Given the description of an element on the screen output the (x, y) to click on. 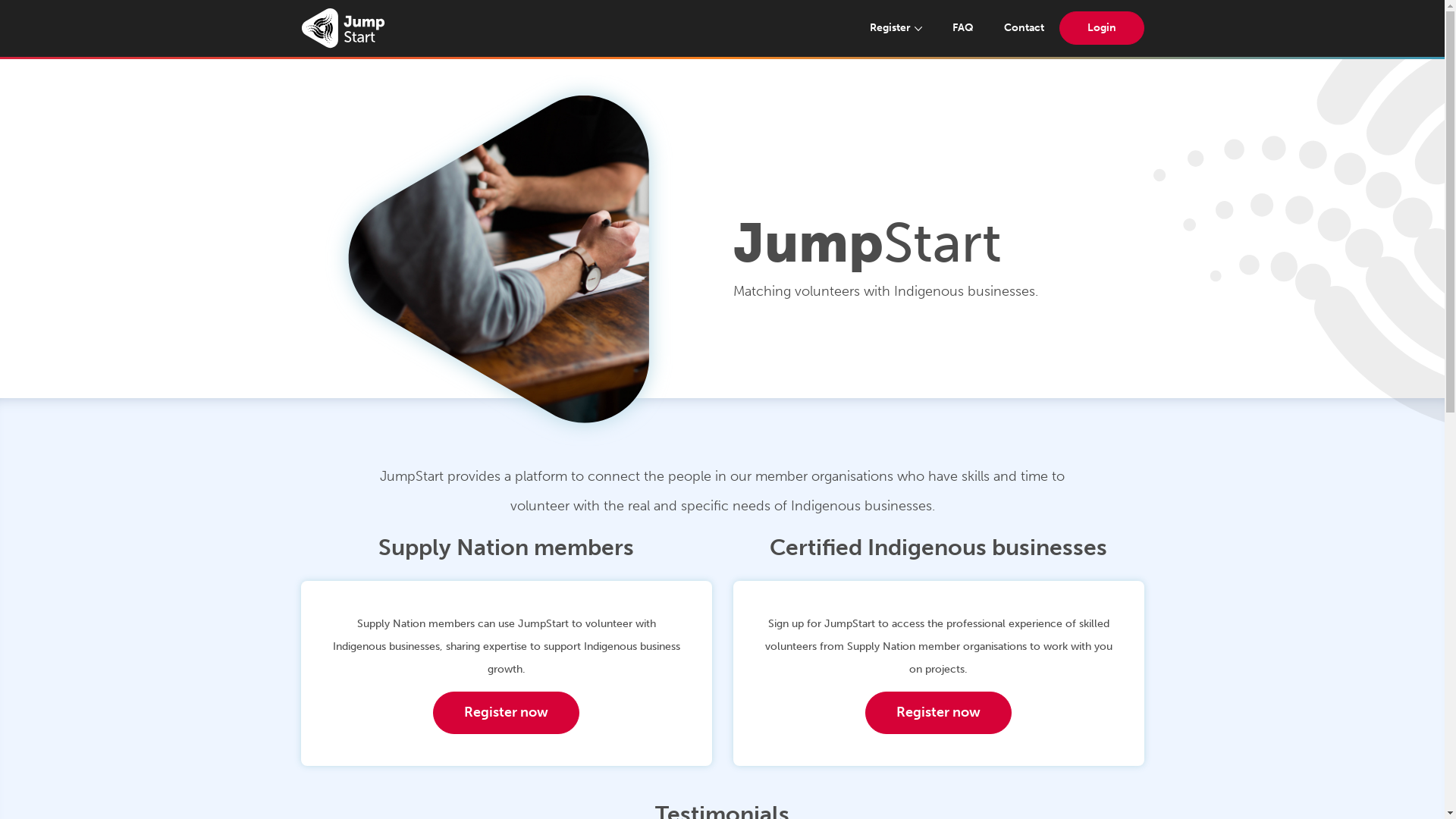
Login Element type: text (1100, 27)
Register now Element type: text (506, 712)
JumpStart Element type: text (342, 28)
Register now Element type: text (938, 712)
Contact Element type: text (1023, 27)
FAQ Element type: text (962, 27)
Register Element type: text (895, 27)
